Given the description of an element on the screen output the (x, y) to click on. 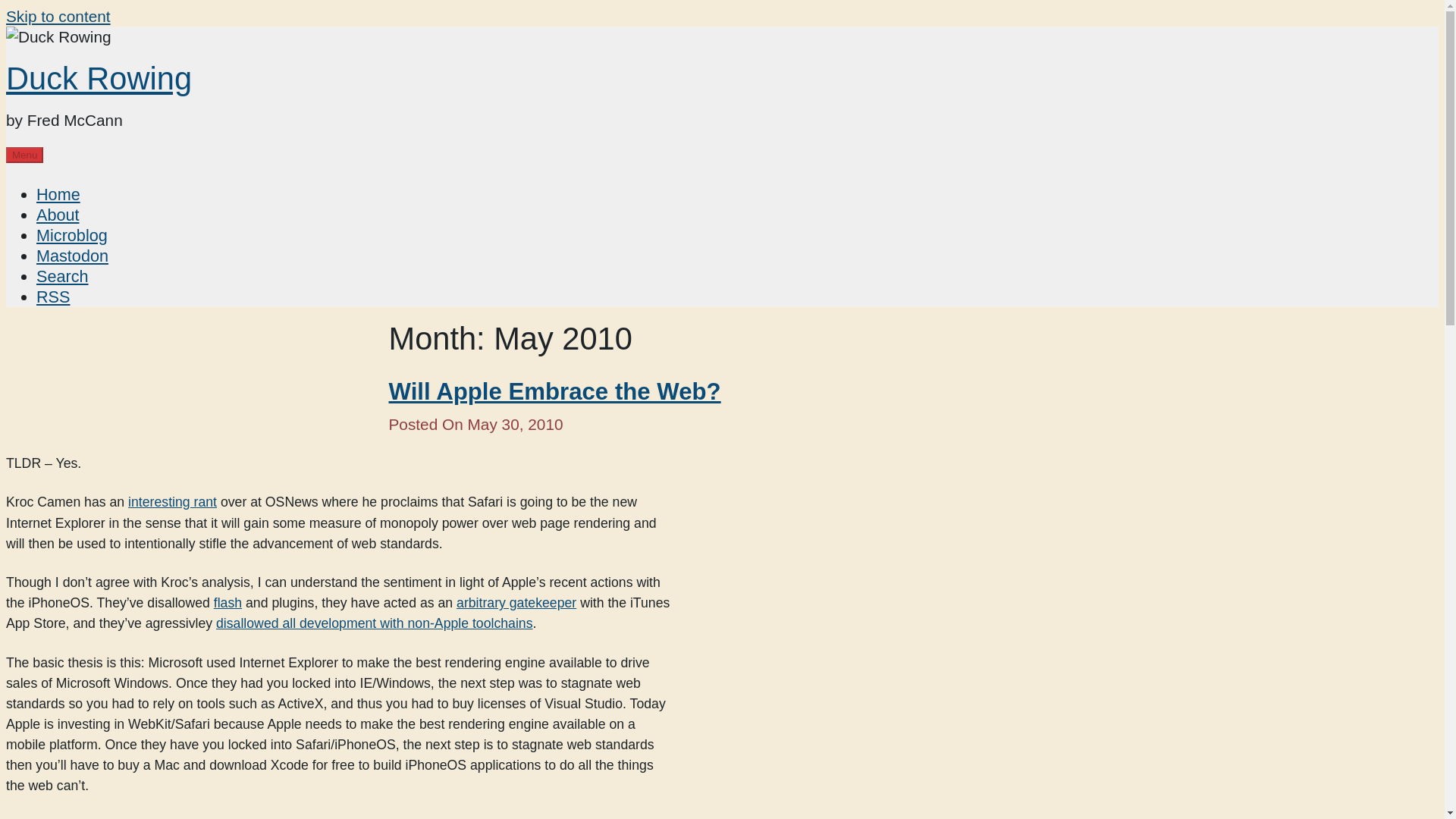
About (58, 214)
Home (58, 194)
Search (62, 275)
Will Apple Embrace the Web? (554, 391)
interesting rant (172, 501)
disallowed all development with non-Apple toolchains (373, 622)
Skip to content (57, 16)
RSS (52, 296)
Menu (24, 154)
Mastodon (71, 255)
arbitrary gatekeeper (516, 602)
flash (227, 602)
Microblog (71, 235)
Duck Rowing (98, 78)
